Given the description of an element on the screen output the (x, y) to click on. 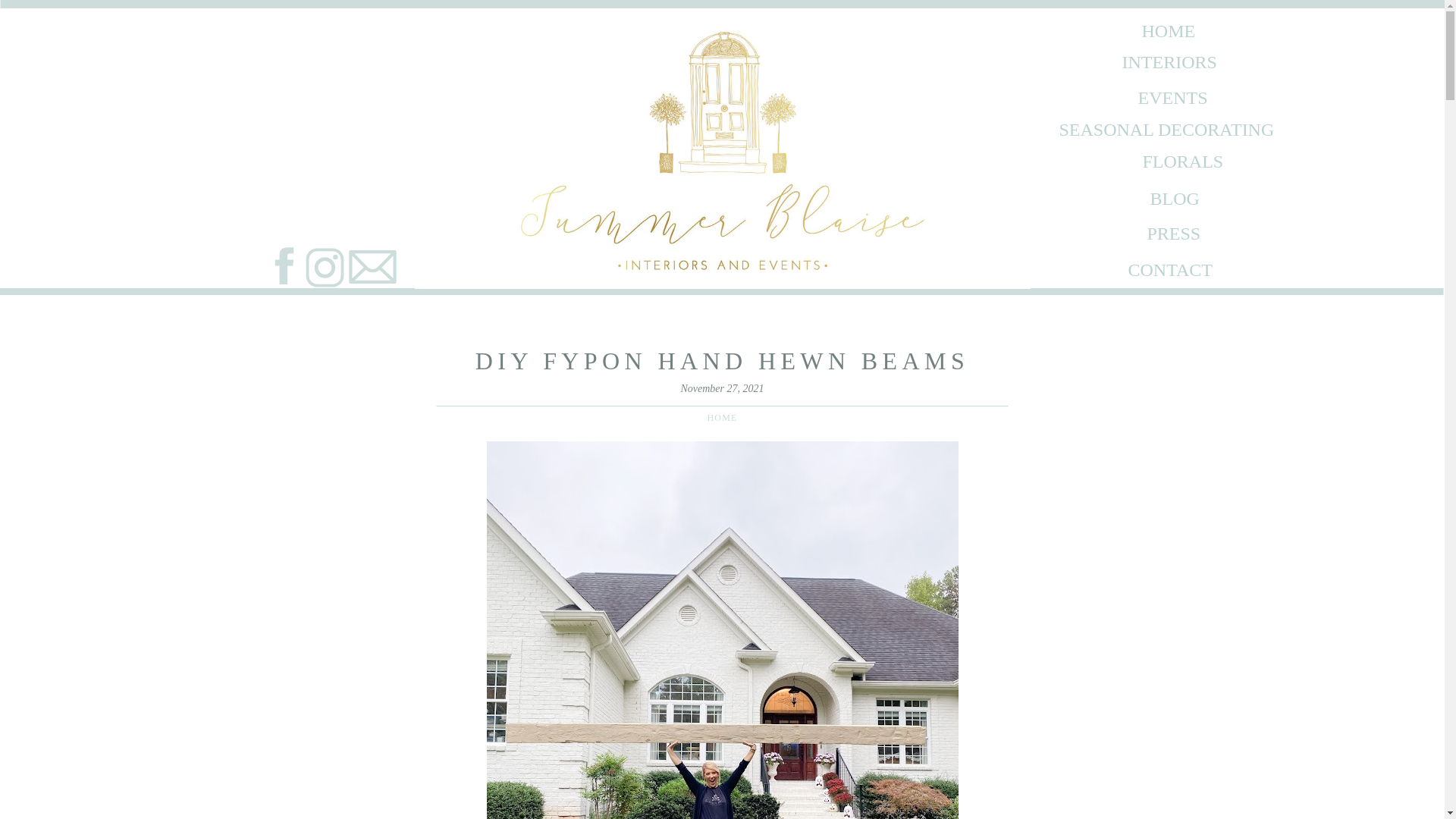
EVENTS (1161, 97)
INTERIORS (1154, 60)
FLORALS (1176, 159)
PRESS (1177, 232)
HOME (721, 417)
SEASONAL DECORATING (1190, 129)
CONTACT (1174, 269)
BLOG (1173, 198)
HOME (1160, 29)
